Given the description of an element on the screen output the (x, y) to click on. 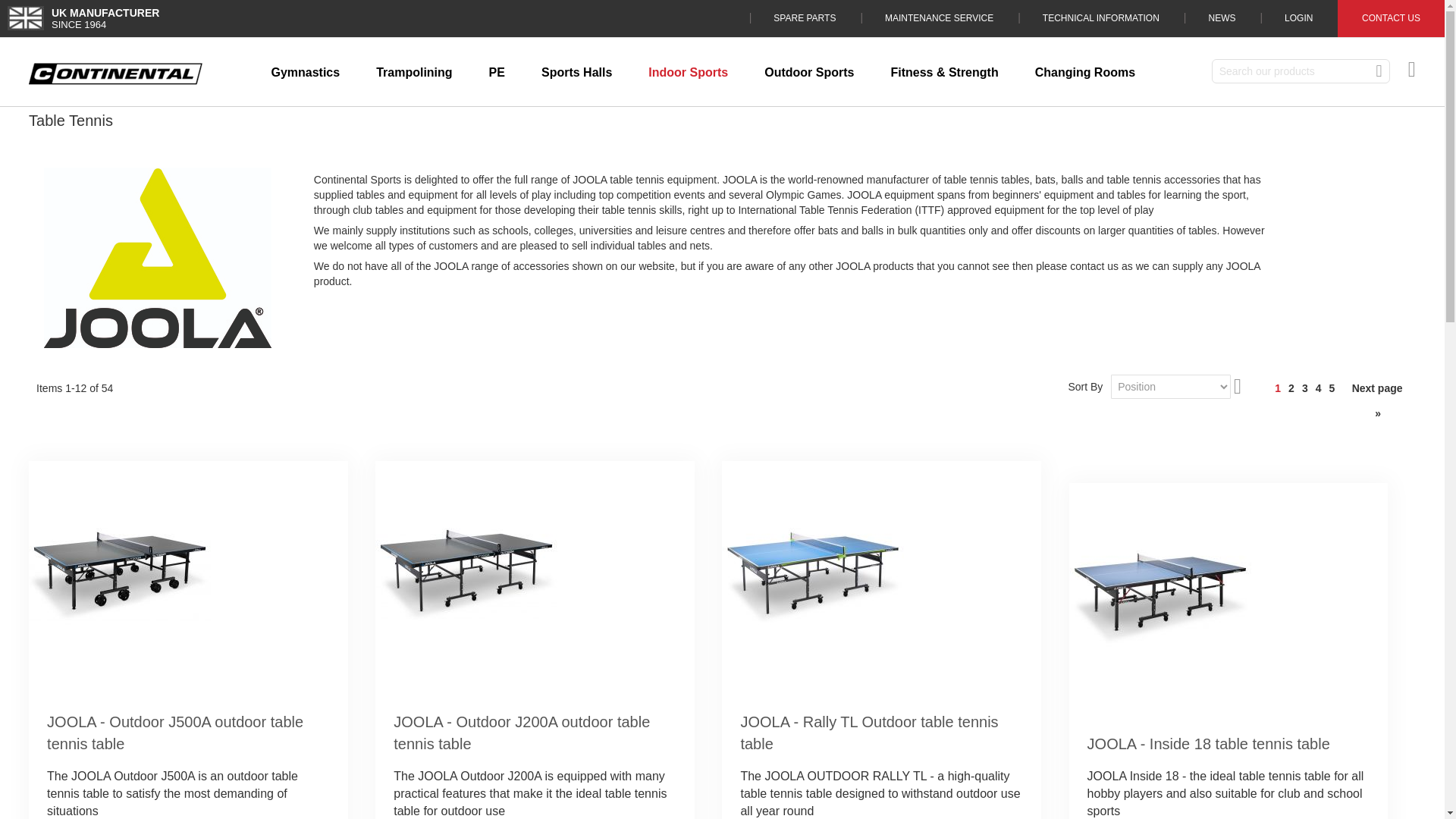
Trampolining (413, 72)
SPARE PARTS (804, 18)
TECHNICAL INFORMATION (1100, 18)
MAINTENANCE SERVICE (938, 18)
NEWS (1221, 18)
LOGIN (1298, 18)
Next (1377, 400)
JOOLA table tennis (156, 257)
News (1221, 18)
Continental Sports (115, 74)
Gymnastics (305, 72)
Technical Information (1100, 18)
